Given the description of an element on the screen output the (x, y) to click on. 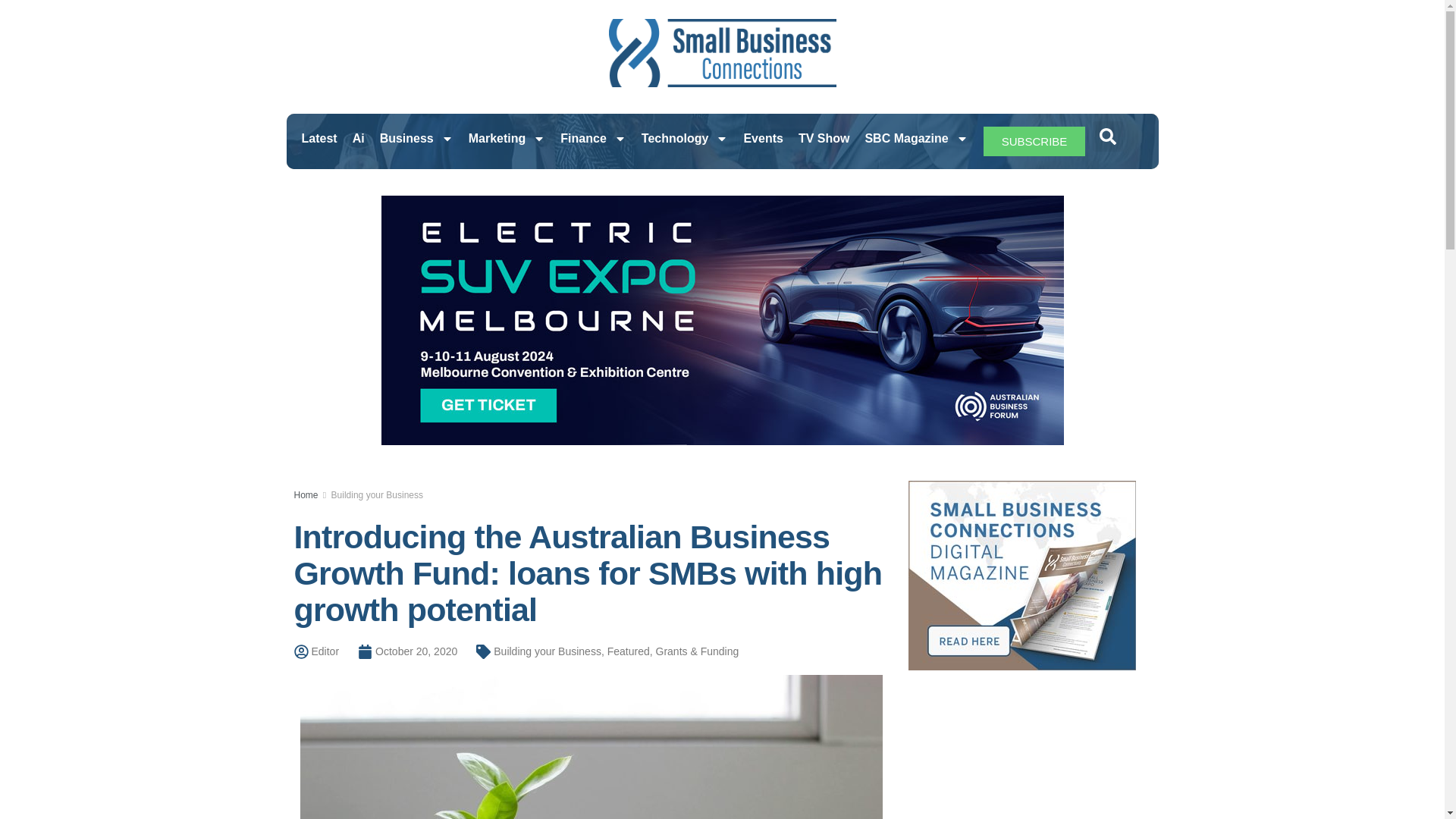
Technology (684, 138)
Marketing (507, 138)
Finance (593, 138)
Latest (319, 138)
Business (416, 138)
Events (762, 138)
